Given the description of an element on the screen output the (x, y) to click on. 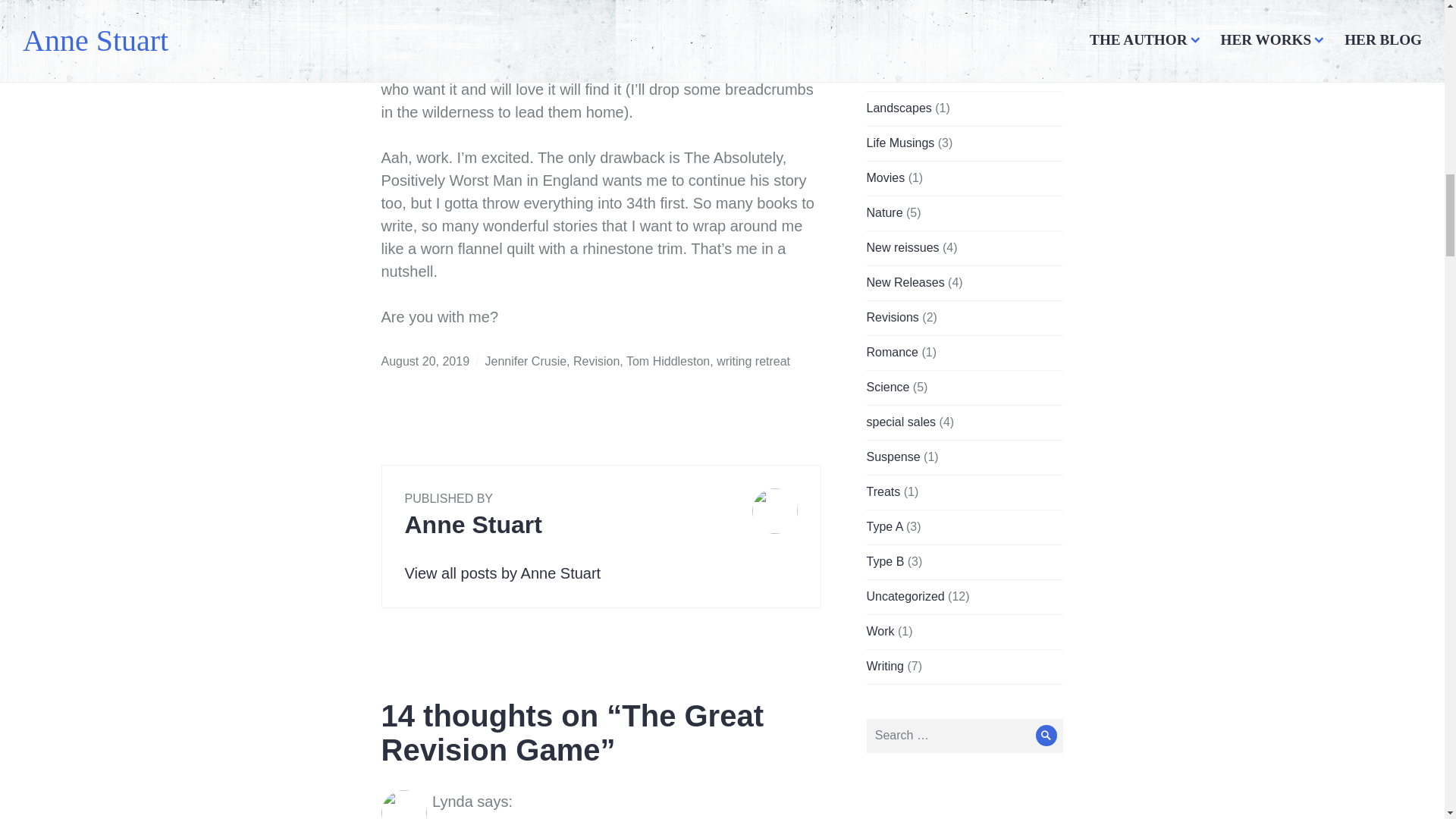
Jennifer Crusie (525, 360)
Revision (596, 360)
Tom Hiddleston (668, 360)
writing retreat (753, 360)
View all posts by Anne Stuart (502, 573)
Search for: (964, 735)
August 20, 2019 (424, 360)
